Given the description of an element on the screen output the (x, y) to click on. 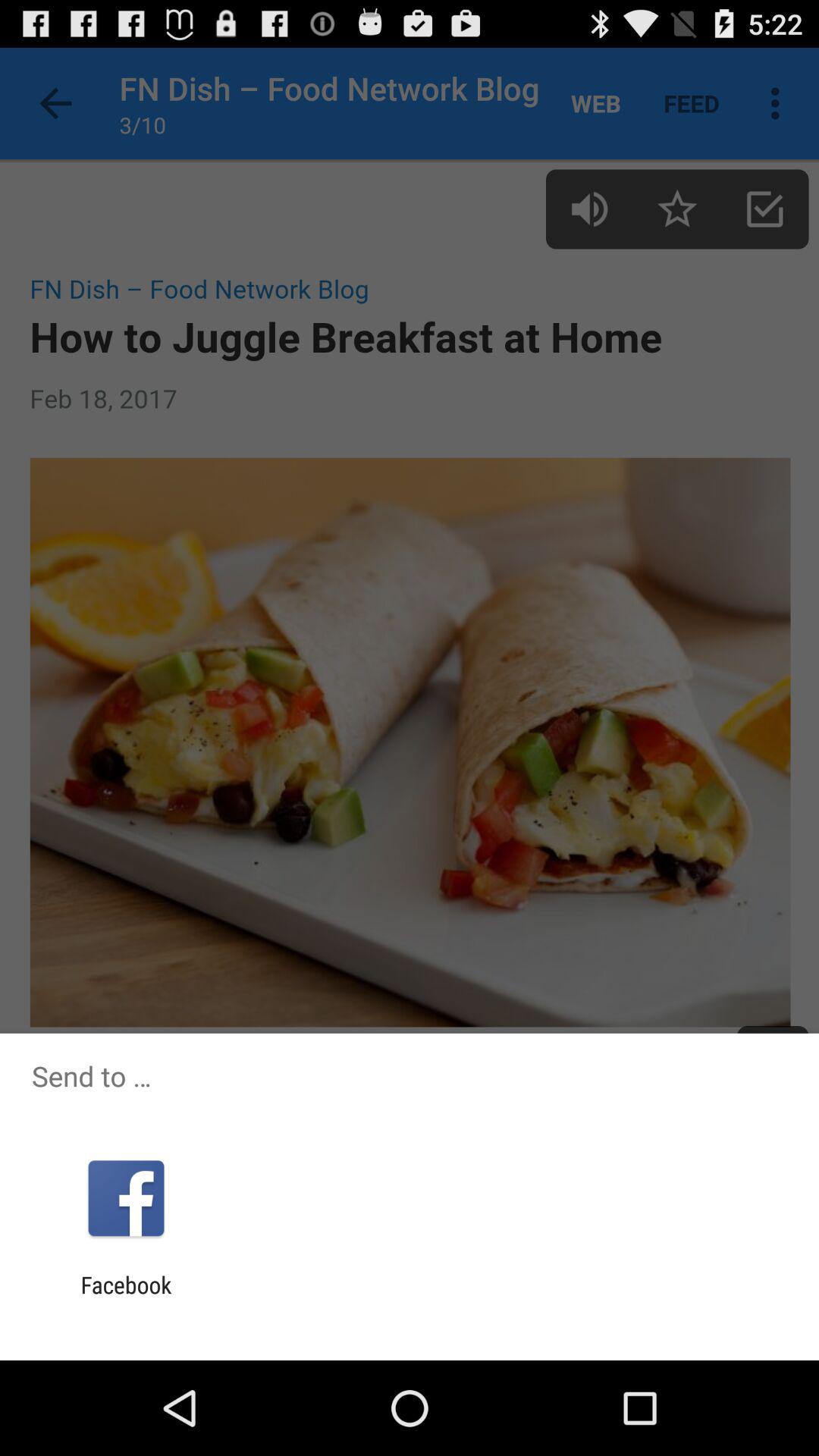
open the facebook item (125, 1298)
